Given the description of an element on the screen output the (x, y) to click on. 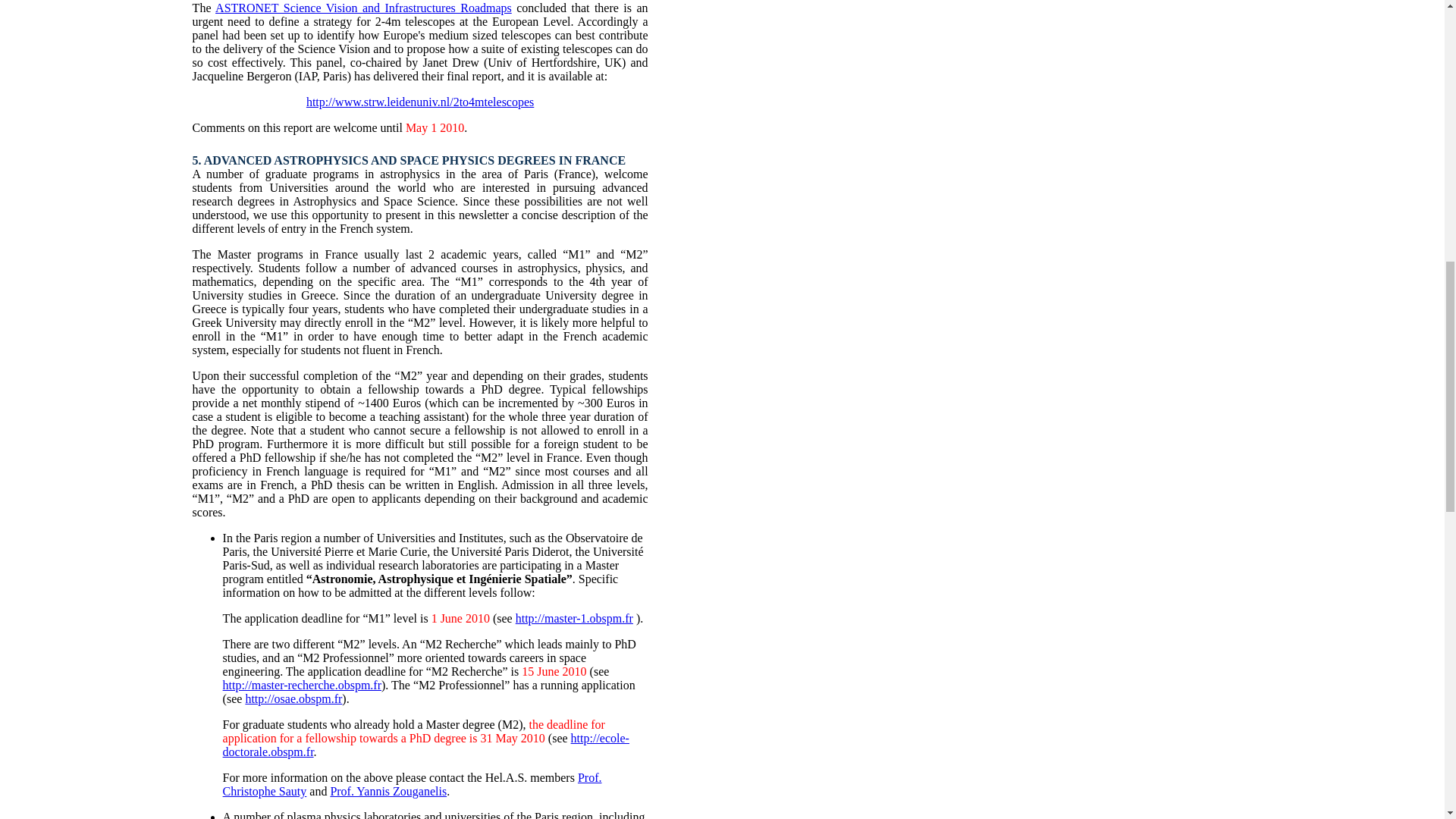
ASTRONET Science Vision and Infrastructures Roadmaps (363, 7)
Prof. Christophe Sauty (412, 784)
Prof. Yannis Zouganelis (388, 790)
